Given the description of an element on the screen output the (x, y) to click on. 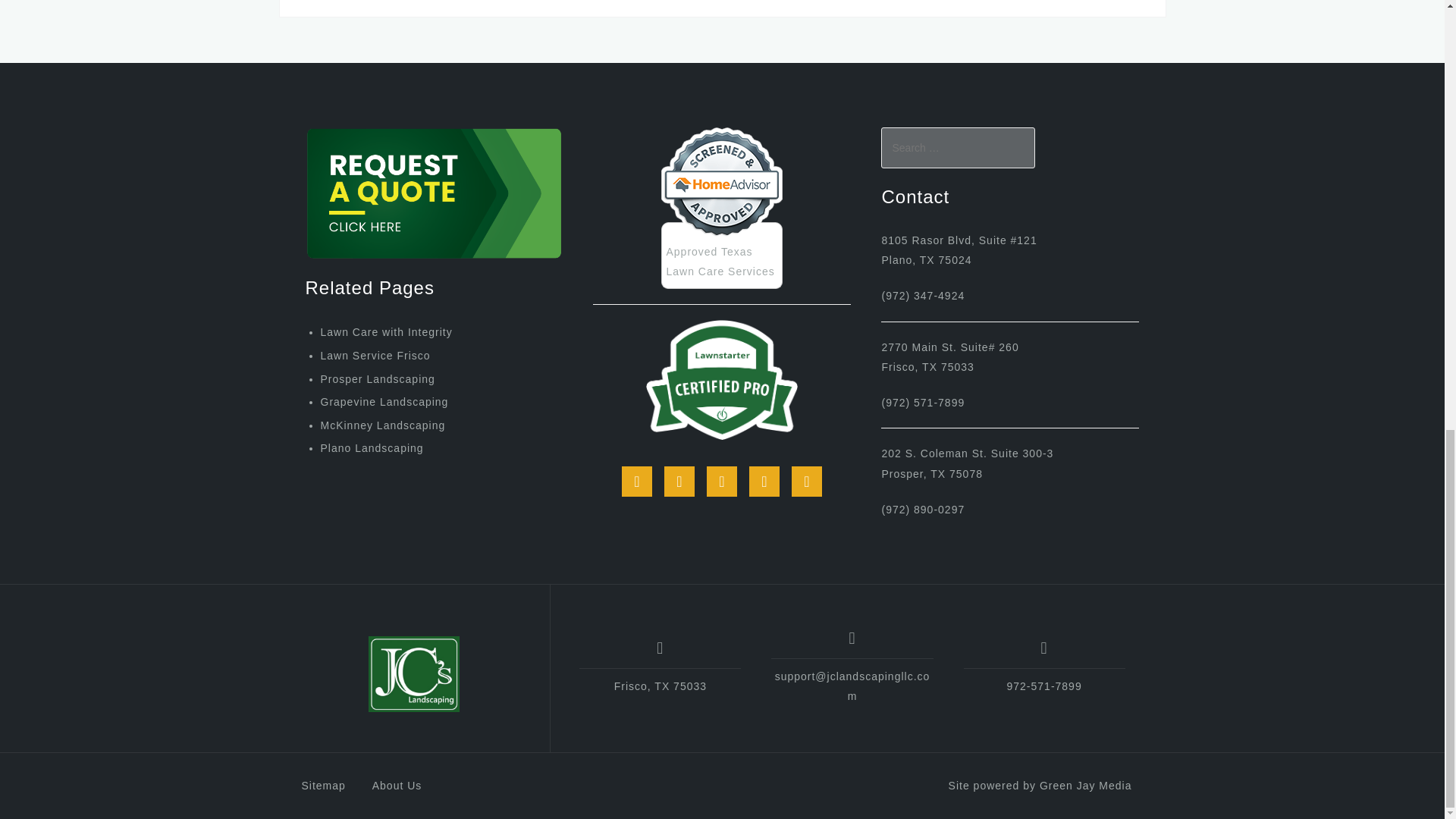
JC's Landscaping LLC (414, 673)
